Given the description of an element on the screen output the (x, y) to click on. 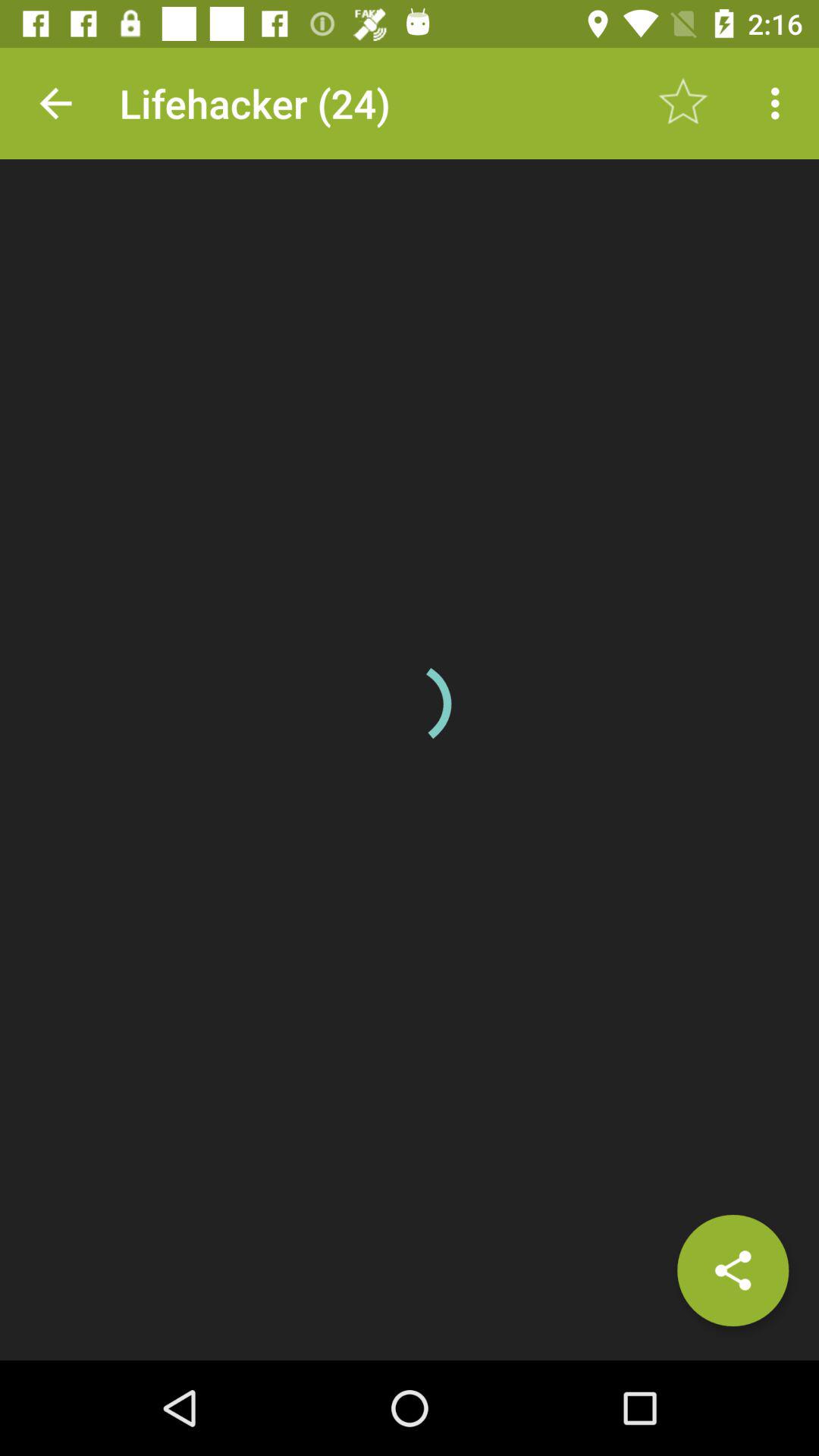
share the article (733, 1270)
